Given the description of an element on the screen output the (x, y) to click on. 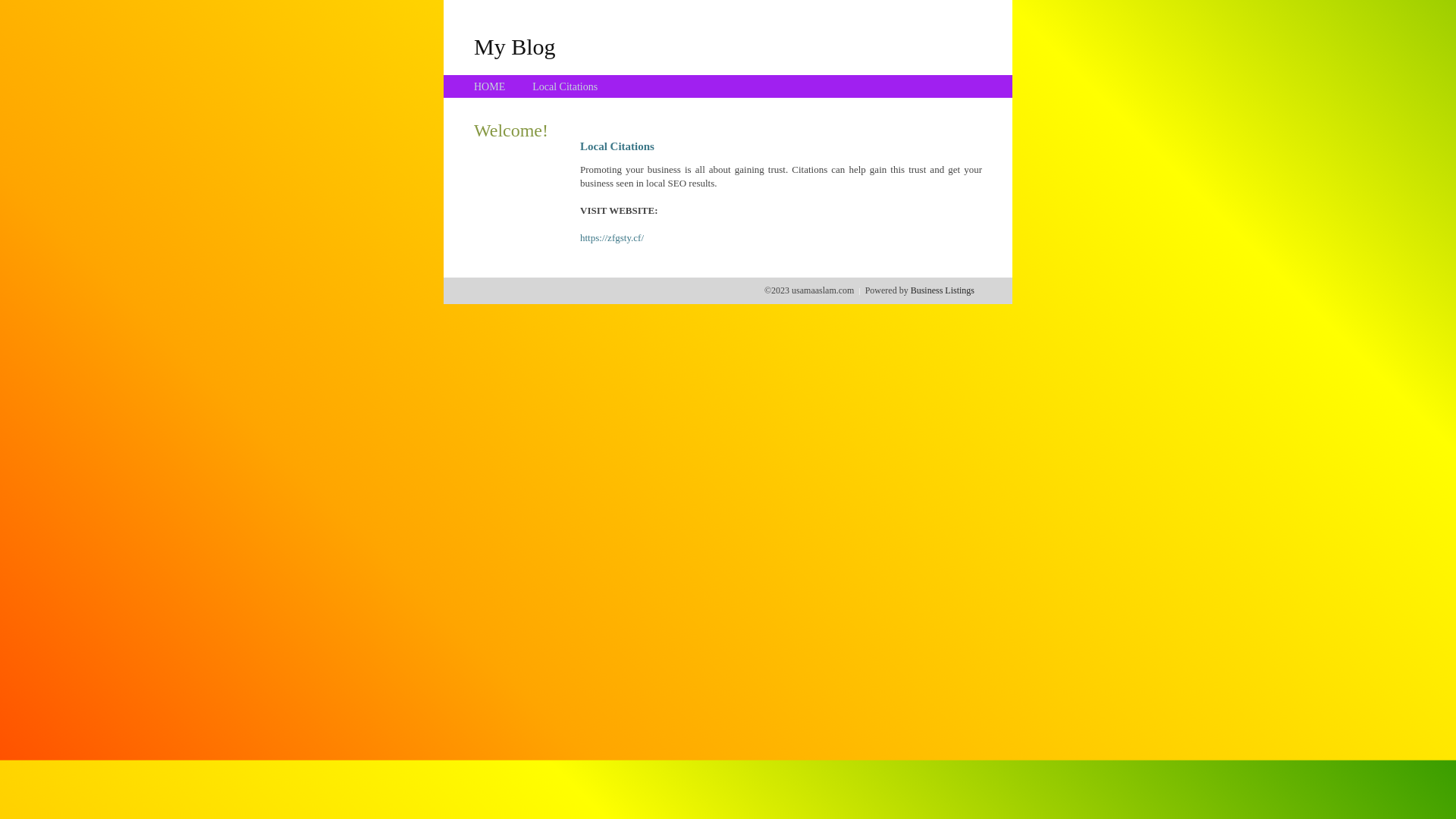
HOME Element type: text (489, 86)
My Blog Element type: text (514, 46)
Business Listings Element type: text (942, 290)
https://zfgsty.cf/ Element type: text (611, 237)
Local Citations Element type: text (564, 86)
